Given the description of an element on the screen output the (x, y) to click on. 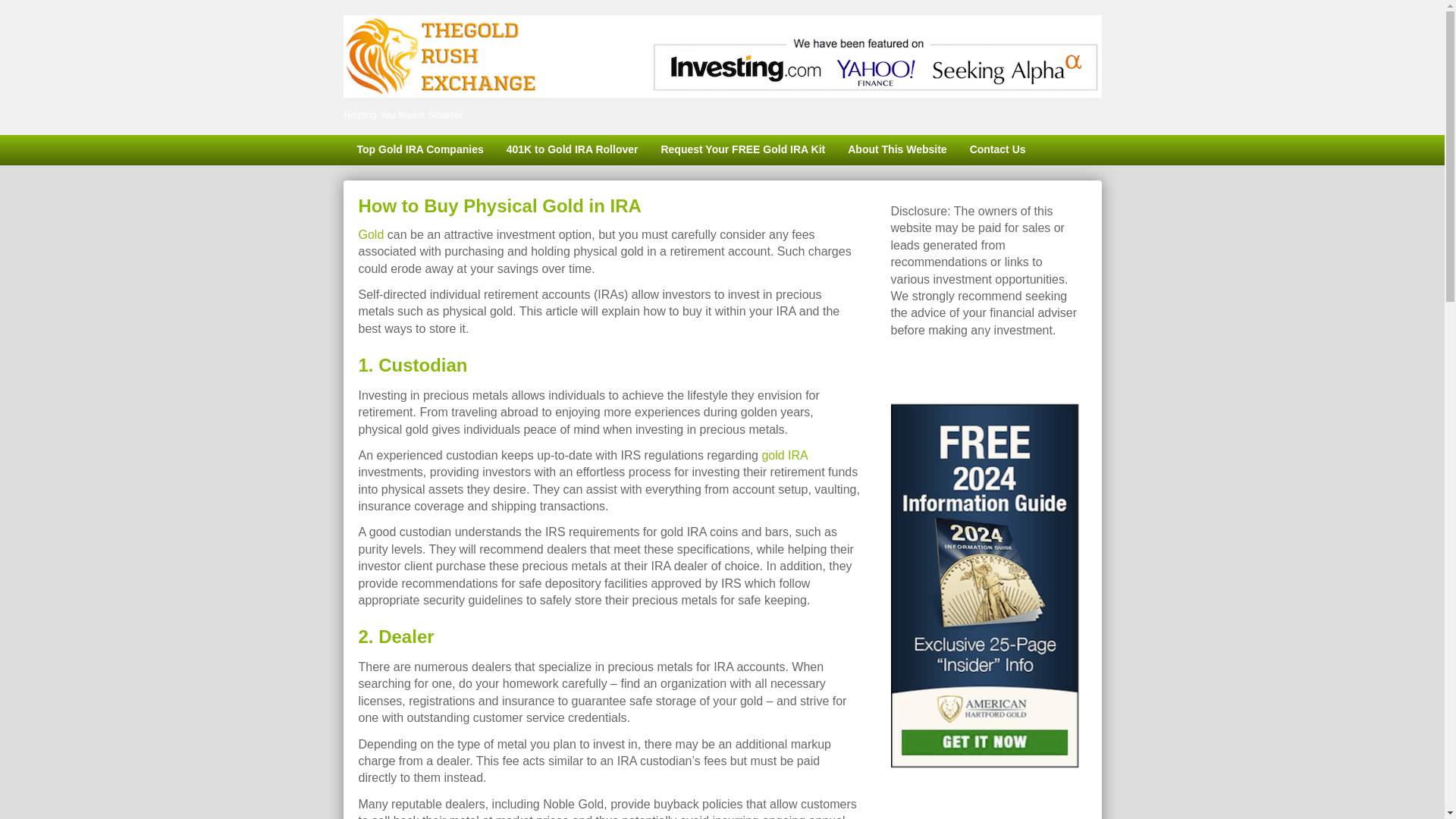
Top Gold IRA Companies (418, 150)
Contact Us (997, 150)
Gold (371, 234)
gold IRA (783, 454)
Request Your FREE Gold IRA Kit (742, 150)
About This Website (896, 150)
401K to Gold IRA Rollover (572, 150)
